Given the description of an element on the screen output the (x, y) to click on. 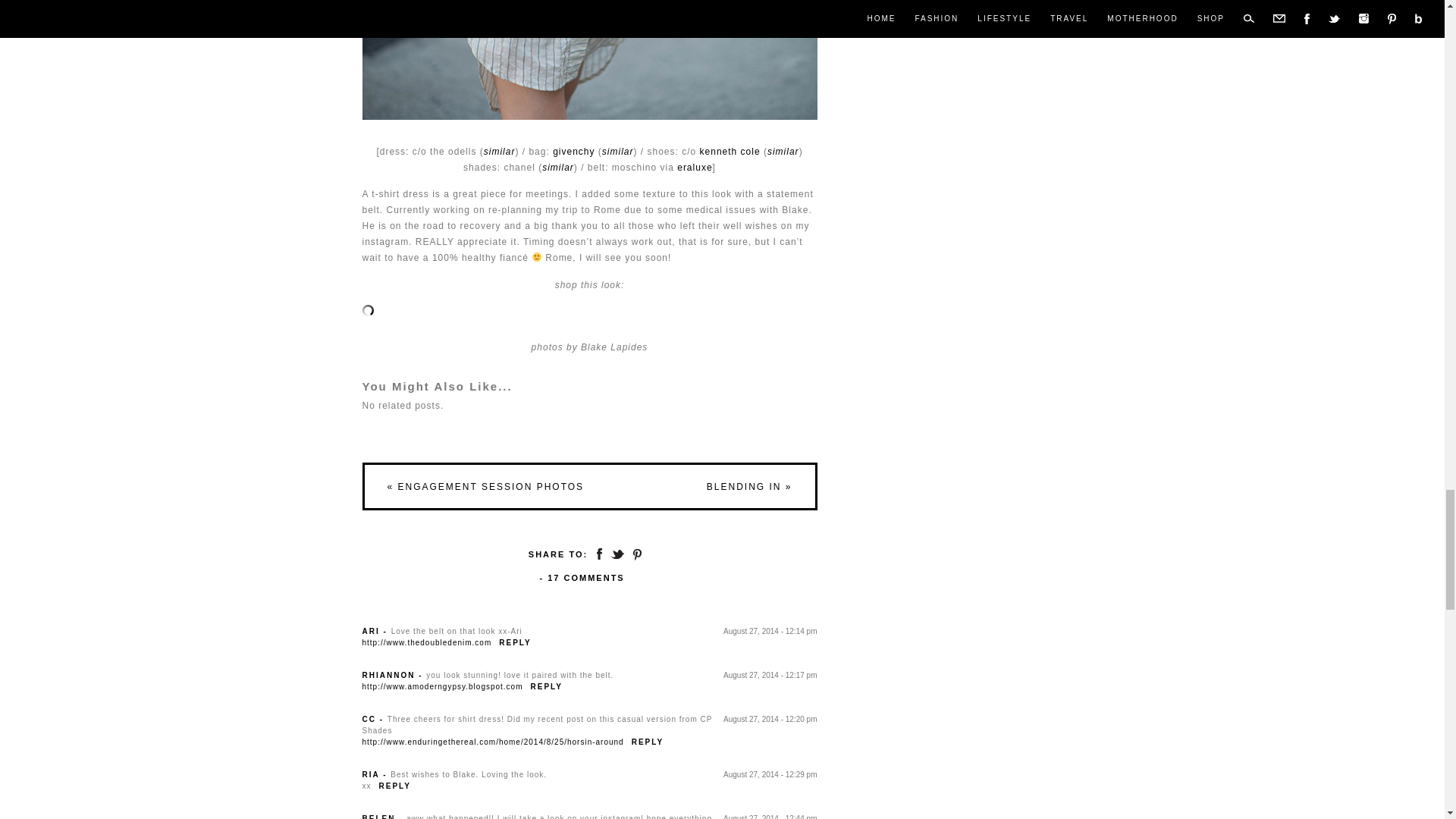
eatsleepwear, odells, givenchy, chanel, kenneth-cole, 5 (589, 59)
